Given the description of an element on the screen output the (x, y) to click on. 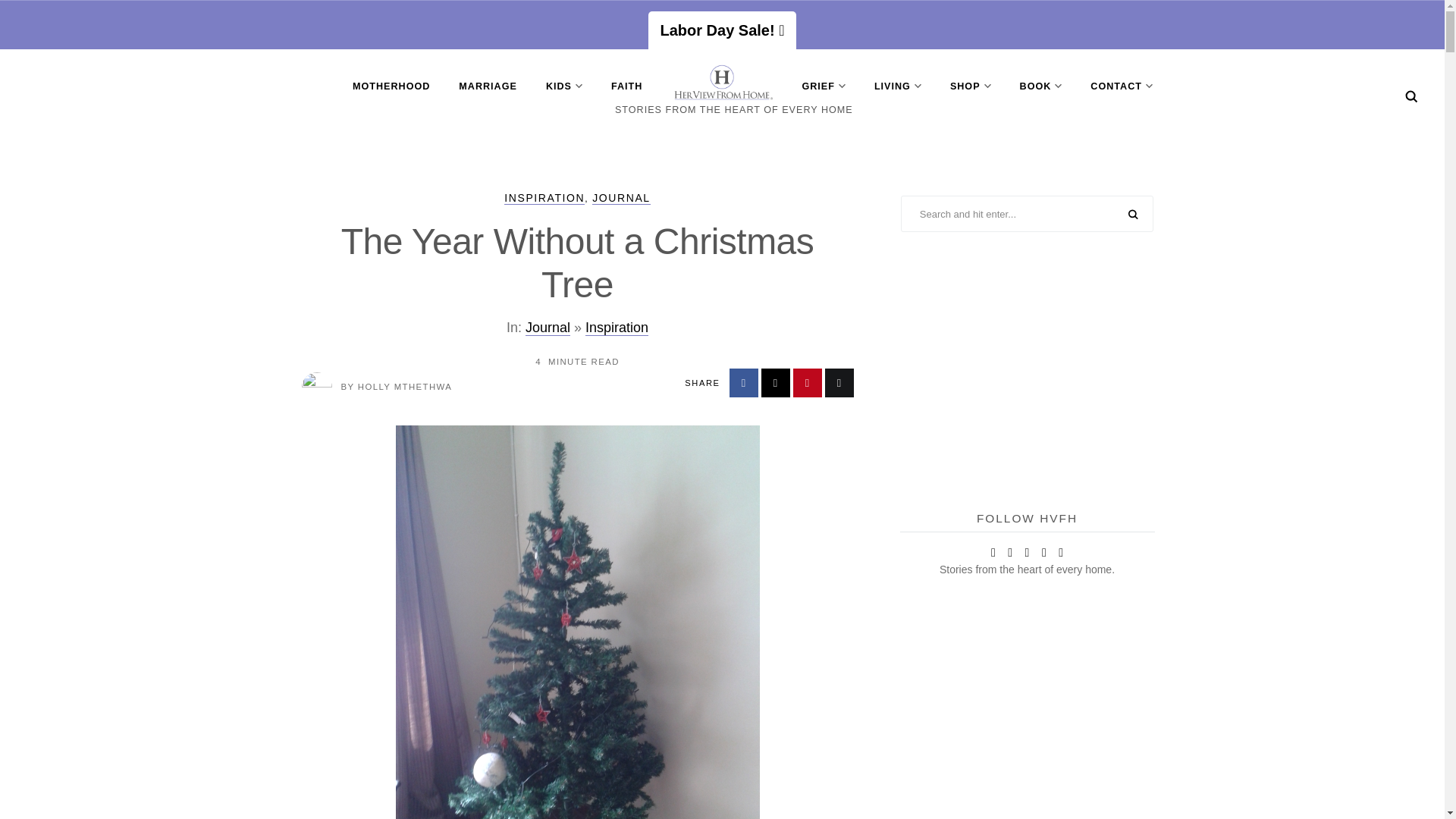
Share on X (775, 382)
Share on Facebook (743, 382)
Share on Pinterest (807, 382)
SEARCH (1133, 214)
Share by Email (839, 382)
Search (1411, 96)
